Given the description of an element on the screen output the (x, y) to click on. 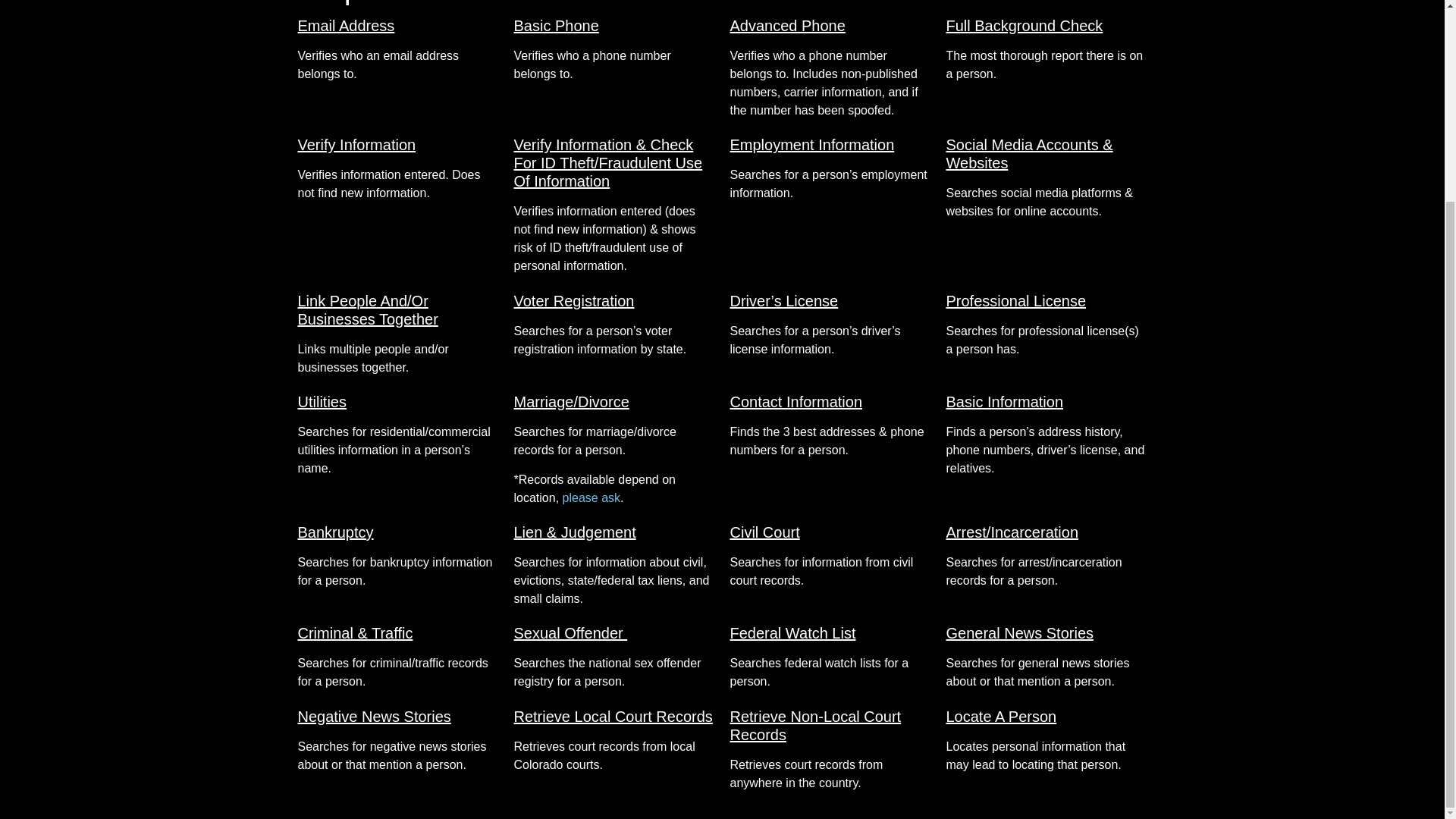
please ask (591, 497)
